Given the description of an element on the screen output the (x, y) to click on. 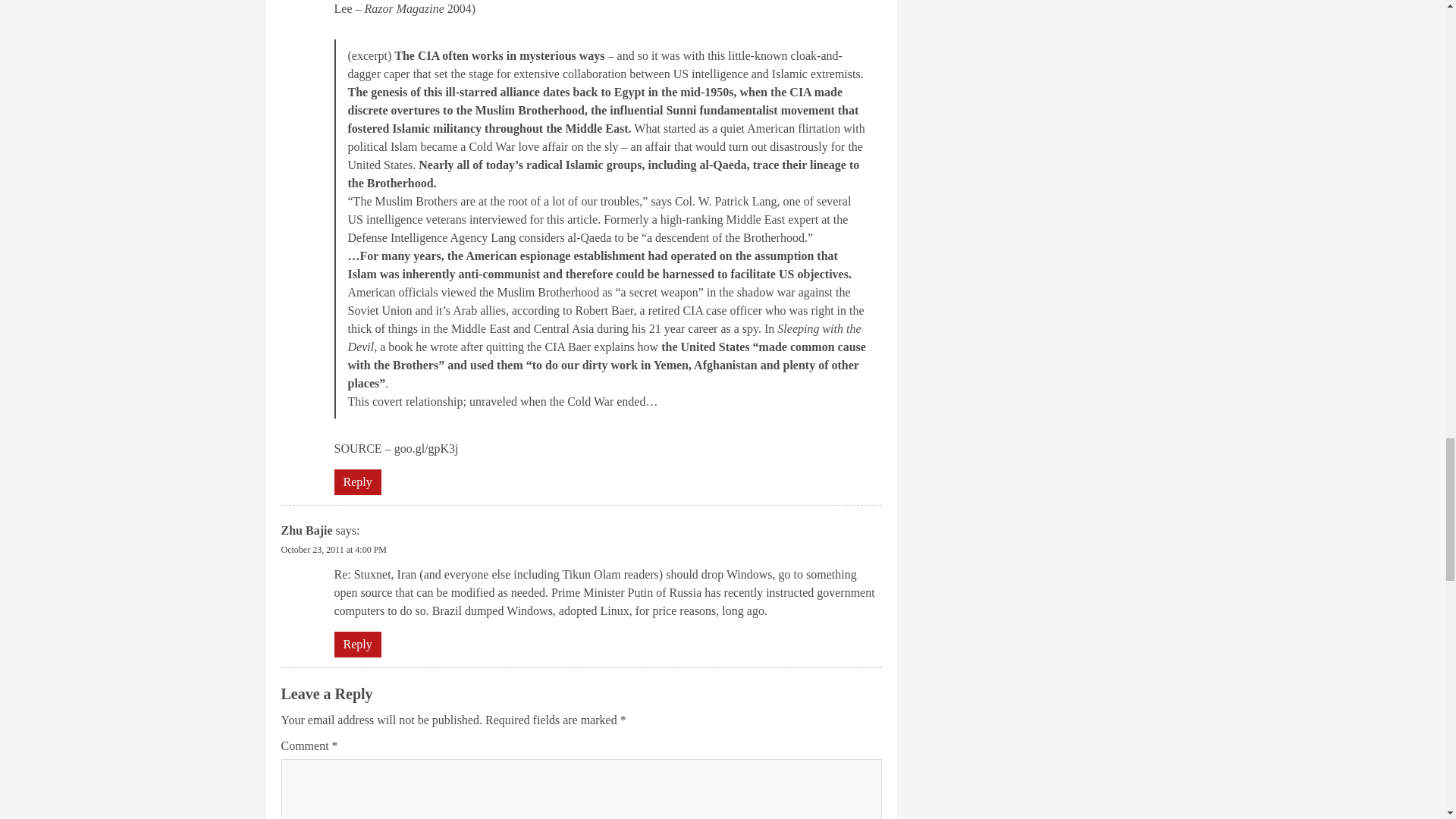
Reply (356, 481)
October 23, 2011 at 4:00 PM (334, 549)
Reply (356, 643)
